Given the description of an element on the screen output the (x, y) to click on. 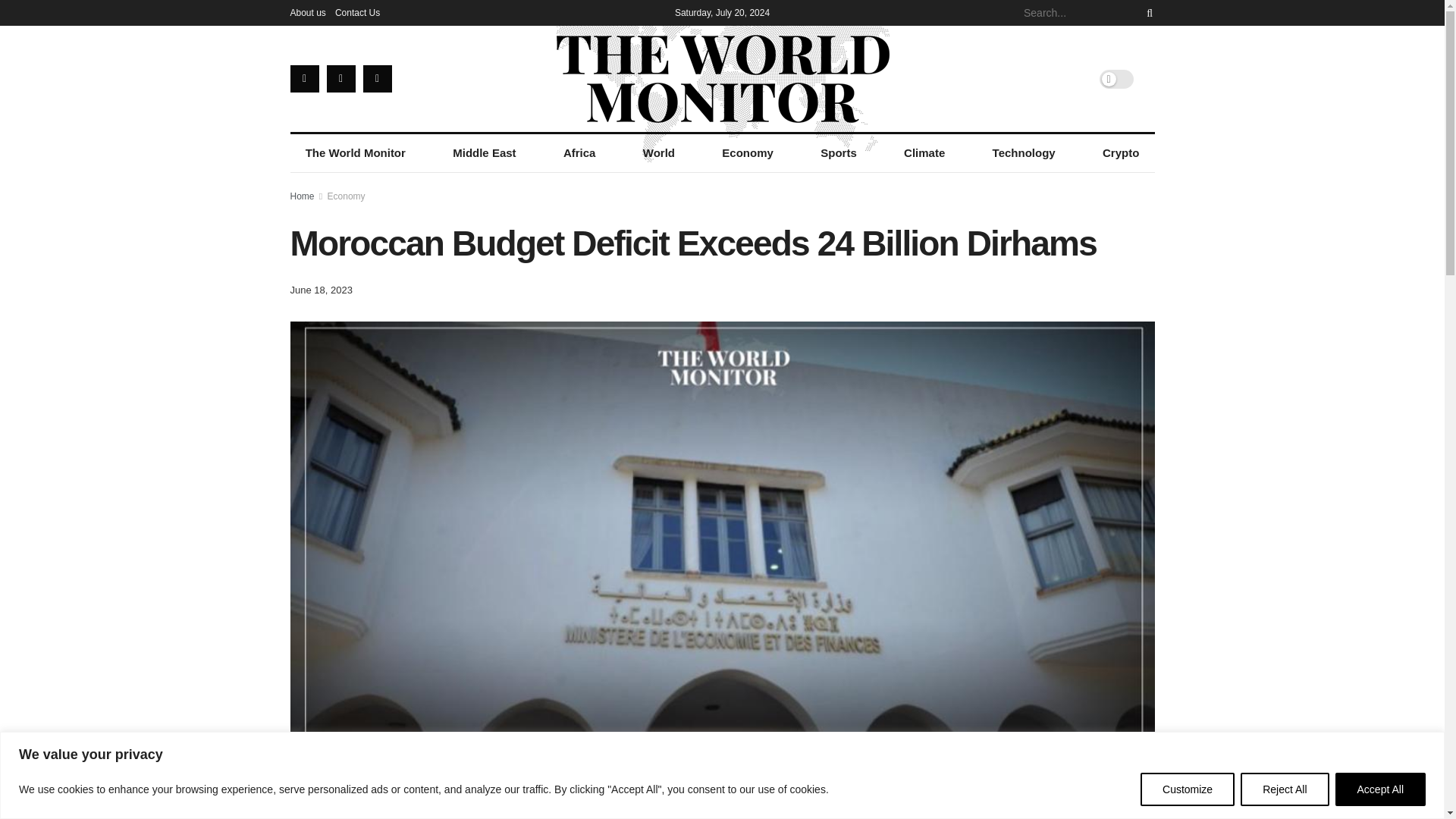
Accept All (1380, 788)
Climate (924, 152)
Contact Us (357, 12)
Customize (1187, 788)
Middle East (484, 152)
Crypto (1120, 152)
Technology (1023, 152)
The World Monitor (354, 152)
Africa (579, 152)
Economy (747, 152)
About us (306, 12)
Reject All (1283, 788)
Sports (838, 152)
World (658, 152)
